Given the description of an element on the screen output the (x, y) to click on. 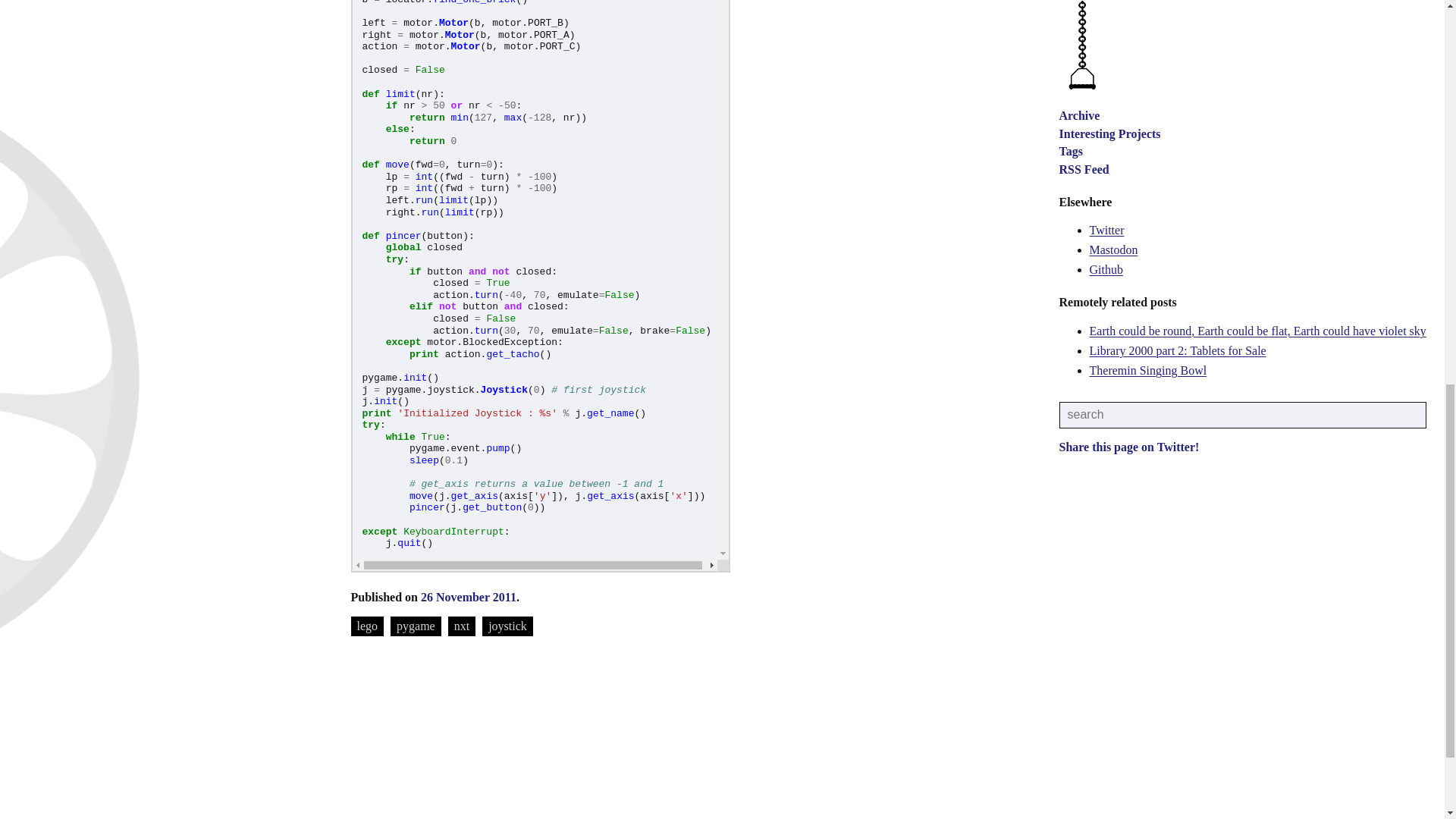
26 November 2011 (468, 596)
nxt (462, 626)
lego (367, 626)
joystick (506, 626)
pygame (415, 626)
